Given the description of an element on the screen output the (x, y) to click on. 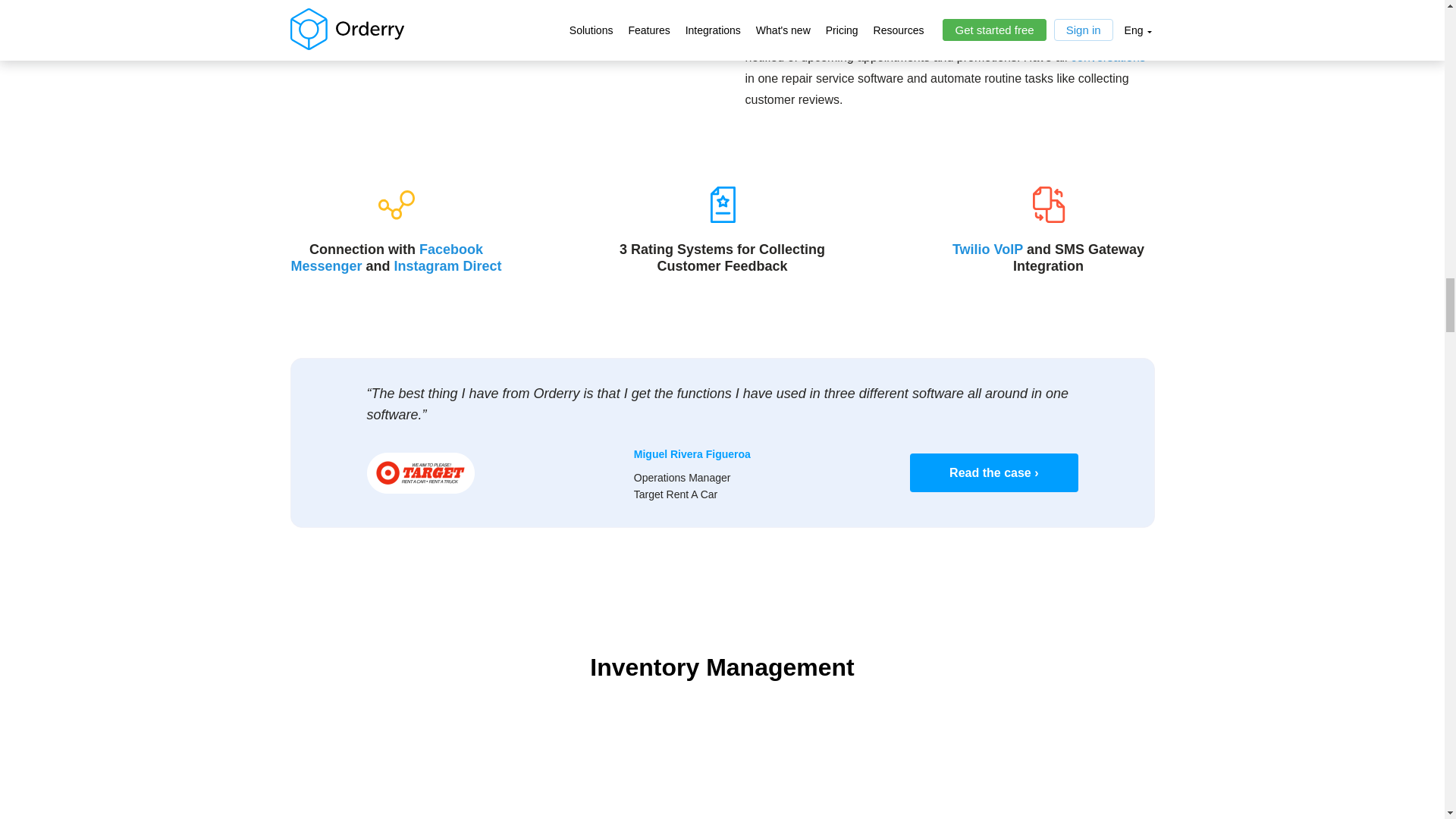
Twilio VoIP and SMS Gateway Integration (1047, 204)
3 Rating Systems for Collecting Customer Feedback (721, 204)
Target Rent A Car (420, 472)
Connection with Facebook Messenger and Instagram Direct (395, 204)
Customer Management (493, 31)
